Given the description of an element on the screen output the (x, y) to click on. 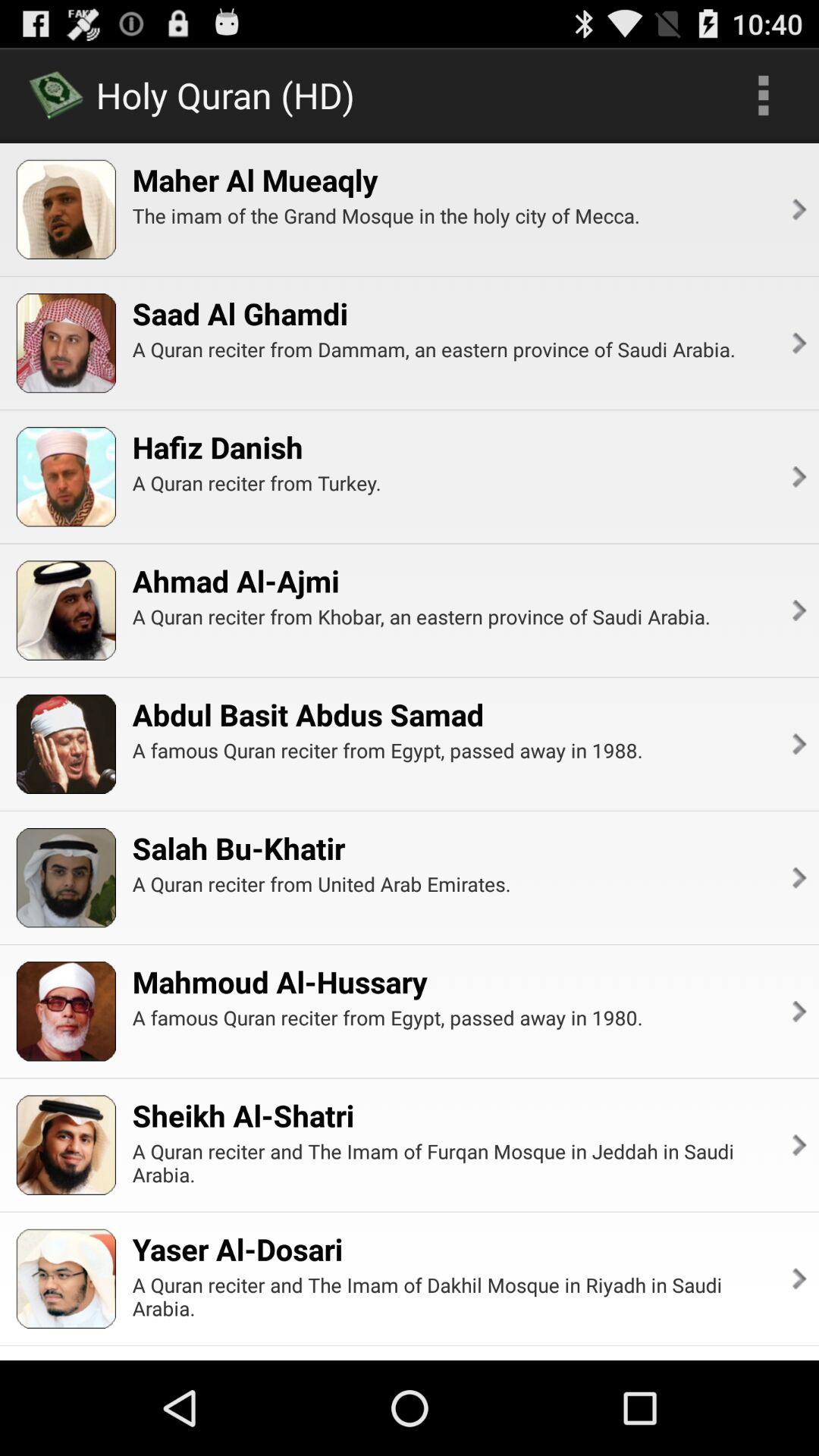
open item below the a quran reciter (235, 580)
